Given the description of an element on the screen output the (x, y) to click on. 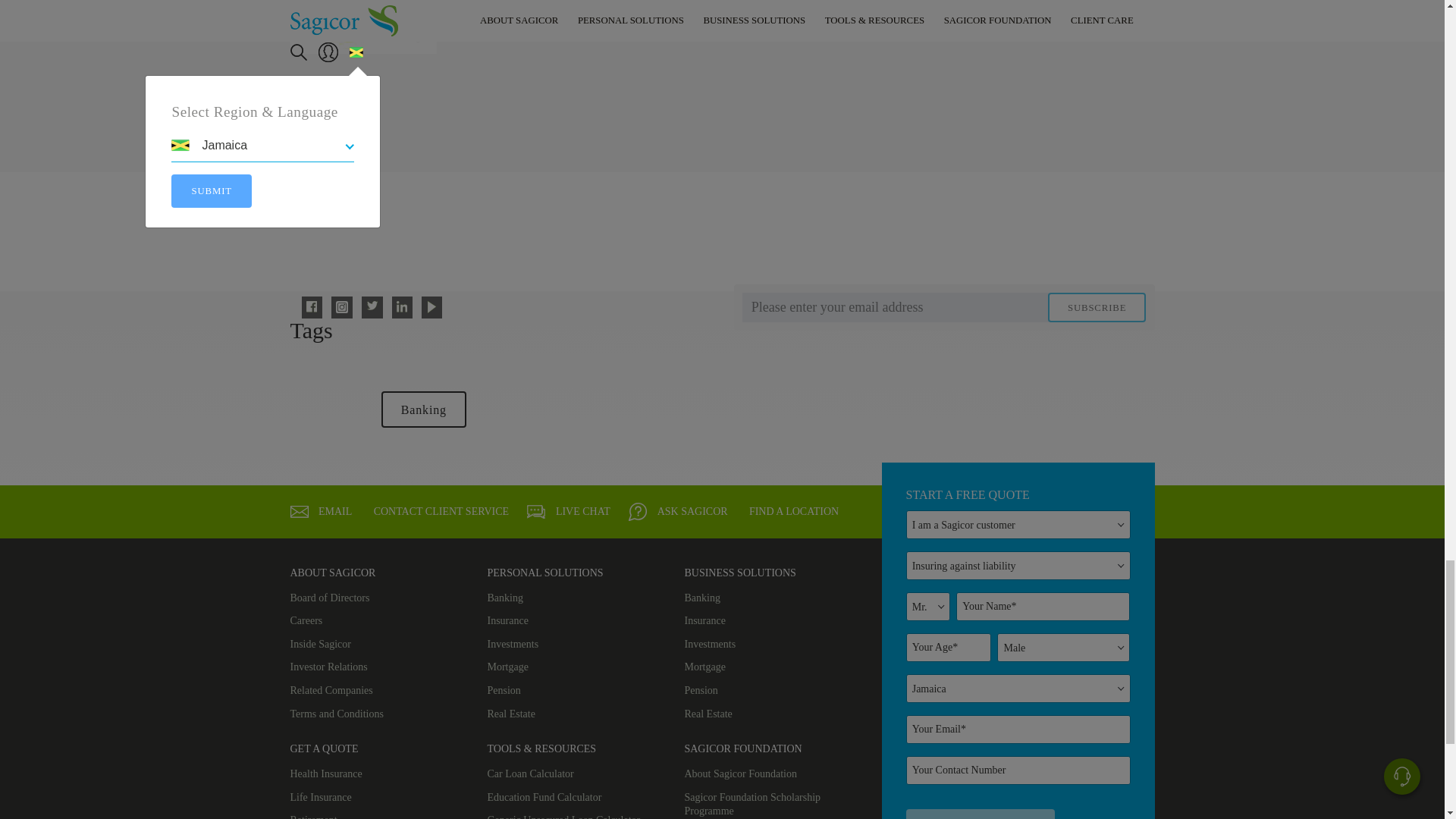
linkedin (401, 306)
Find A Location  (791, 512)
Start a free Quote (980, 814)
EMAIL (298, 511)
Contact Client Service (439, 512)
Subscribe (1096, 307)
Email (320, 512)
twitter (372, 305)
Ask Sagicor  (677, 511)
facebook (311, 306)
ASK-SAGICOR (637, 511)
Live Chat (568, 512)
